Given the description of an element on the screen output the (x, y) to click on. 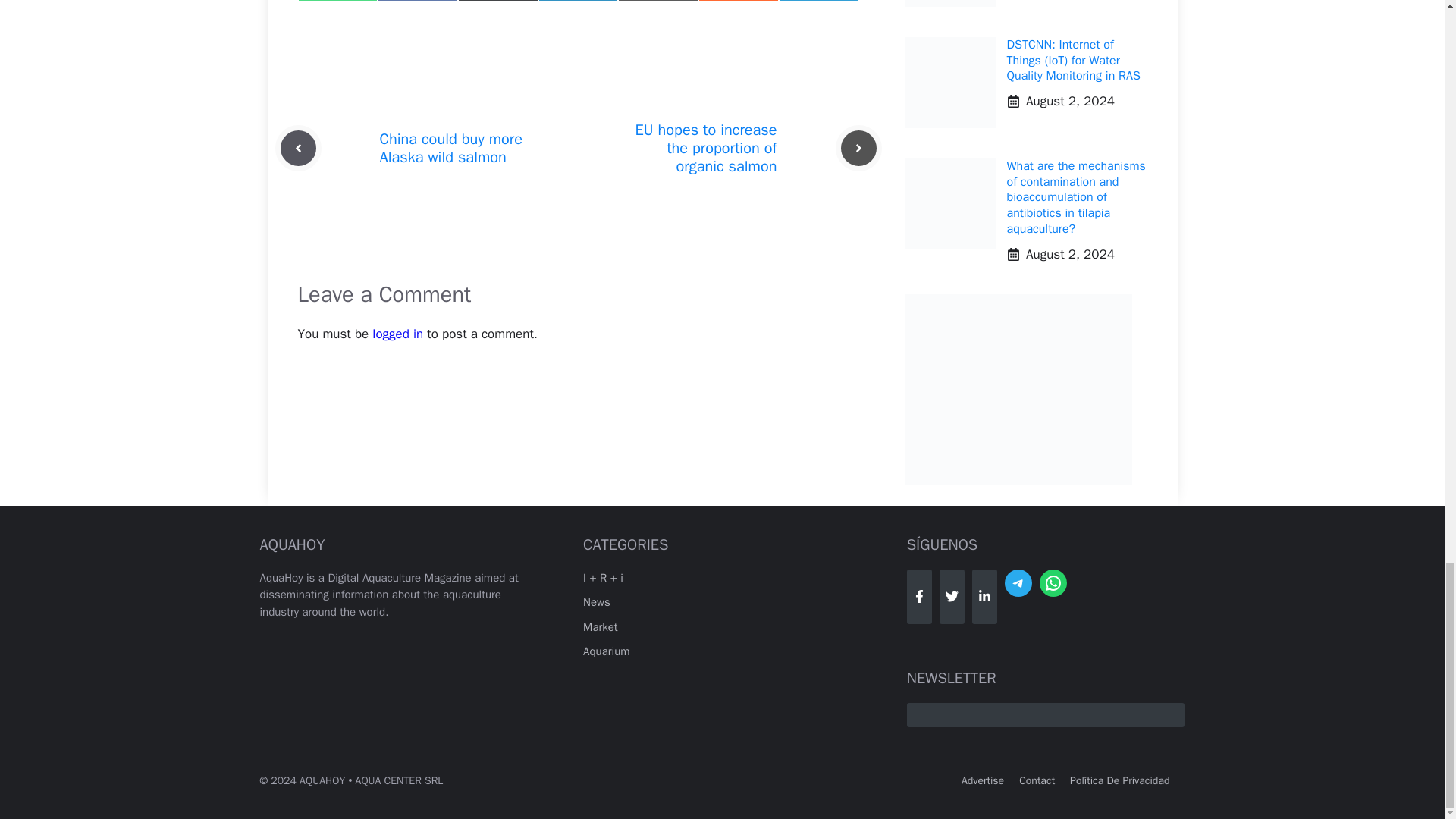
Share on LinkedIn (578, 0)
Share on Facebook (417, 0)
Share on Telegram (818, 0)
EU hopes to increase the proportion of organic salmon (705, 148)
China could buy more Alaska wild salmon (450, 148)
Share on WhatsApp (337, 0)
logged in (397, 333)
Share on Email (657, 0)
Share on Reddit (738, 0)
